Given the description of an element on the screen output the (x, y) to click on. 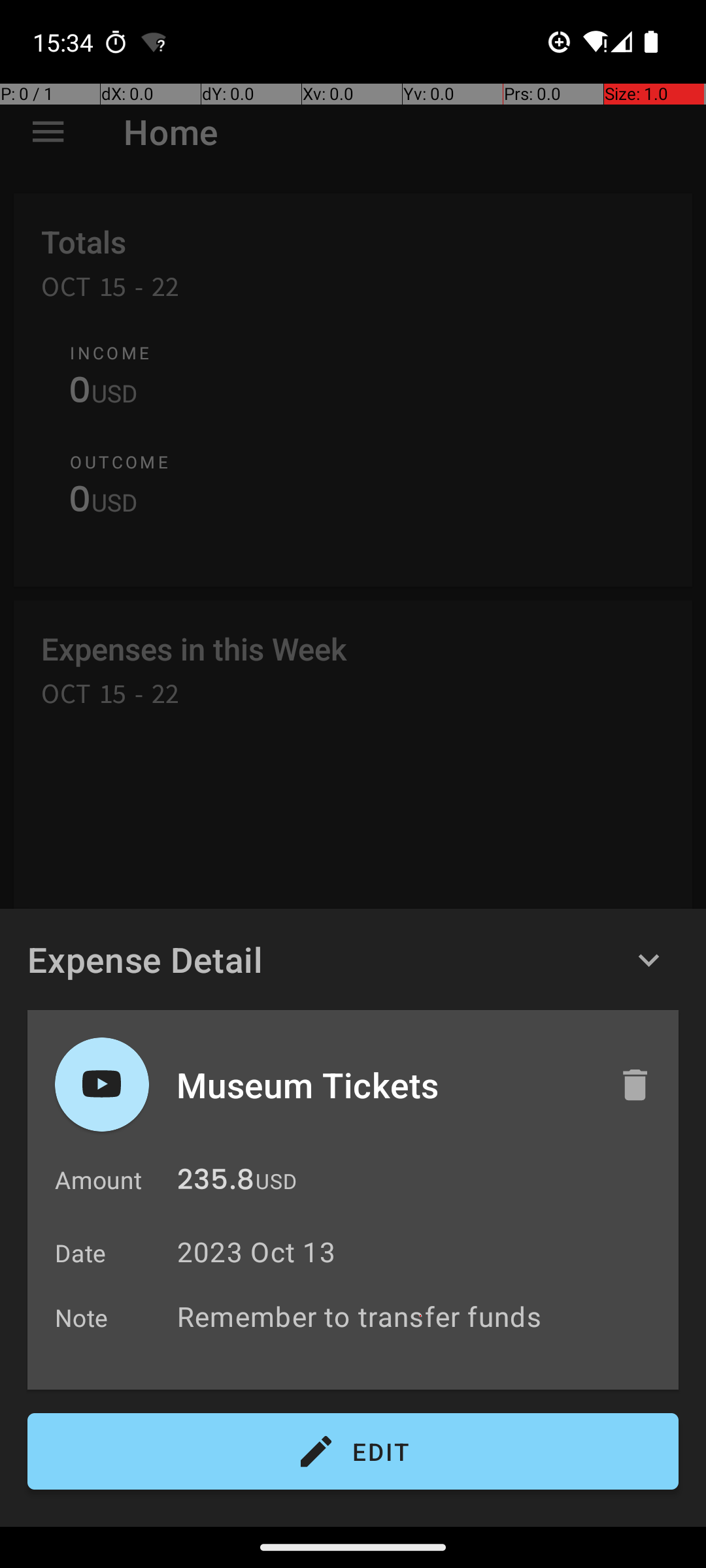
Museum Tickets Element type: android.widget.TextView (383, 1084)
235.8 Element type: android.widget.TextView (215, 1182)
